Given the description of an element on the screen output the (x, y) to click on. 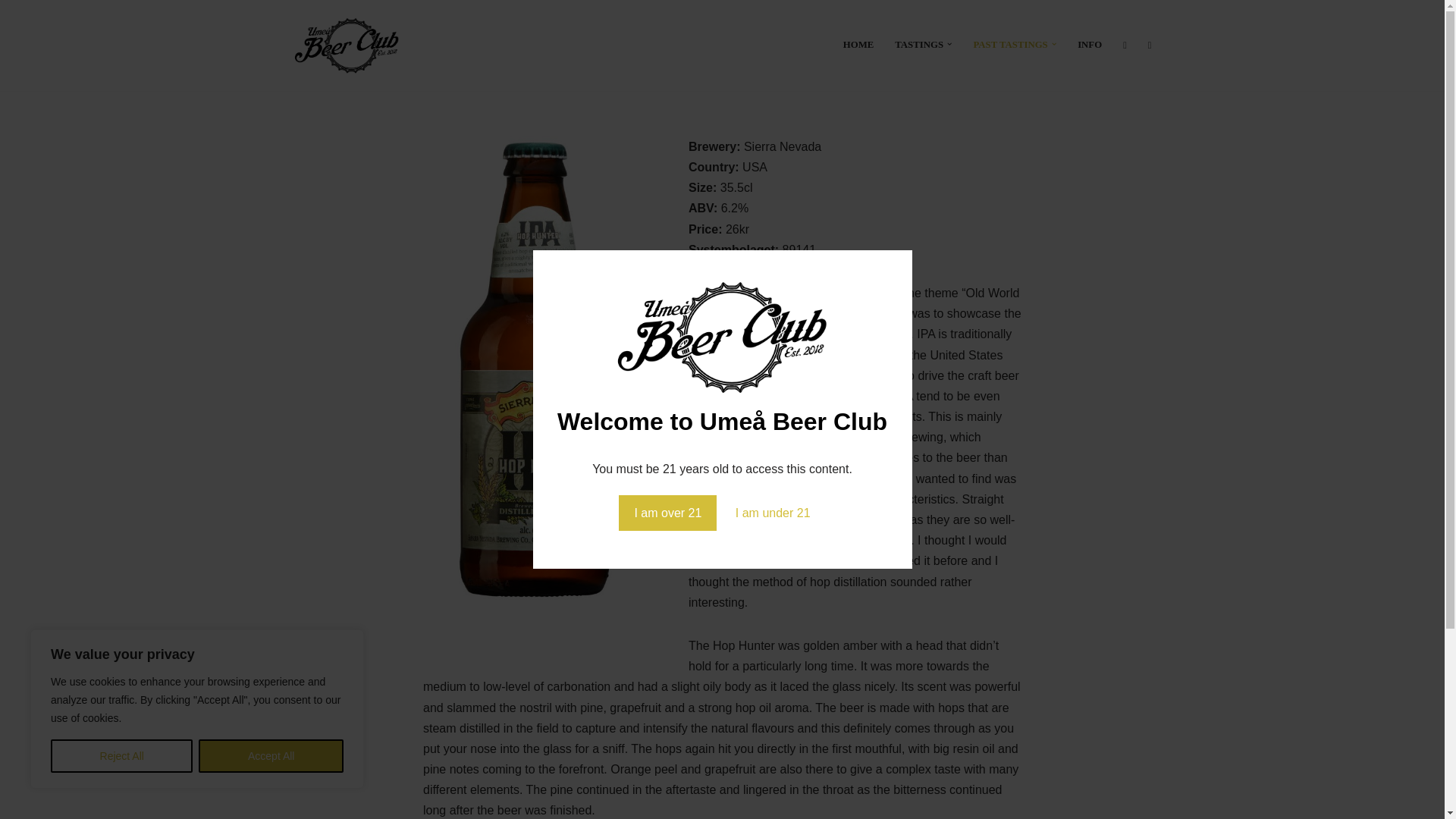
Reject All (121, 756)
Accept All (270, 756)
I am over 21 (667, 512)
HOME (859, 44)
PAST TASTINGS (1009, 44)
TASTINGS (919, 44)
I am under 21 (772, 512)
Skip to content (11, 31)
